Given the description of an element on the screen output the (x, y) to click on. 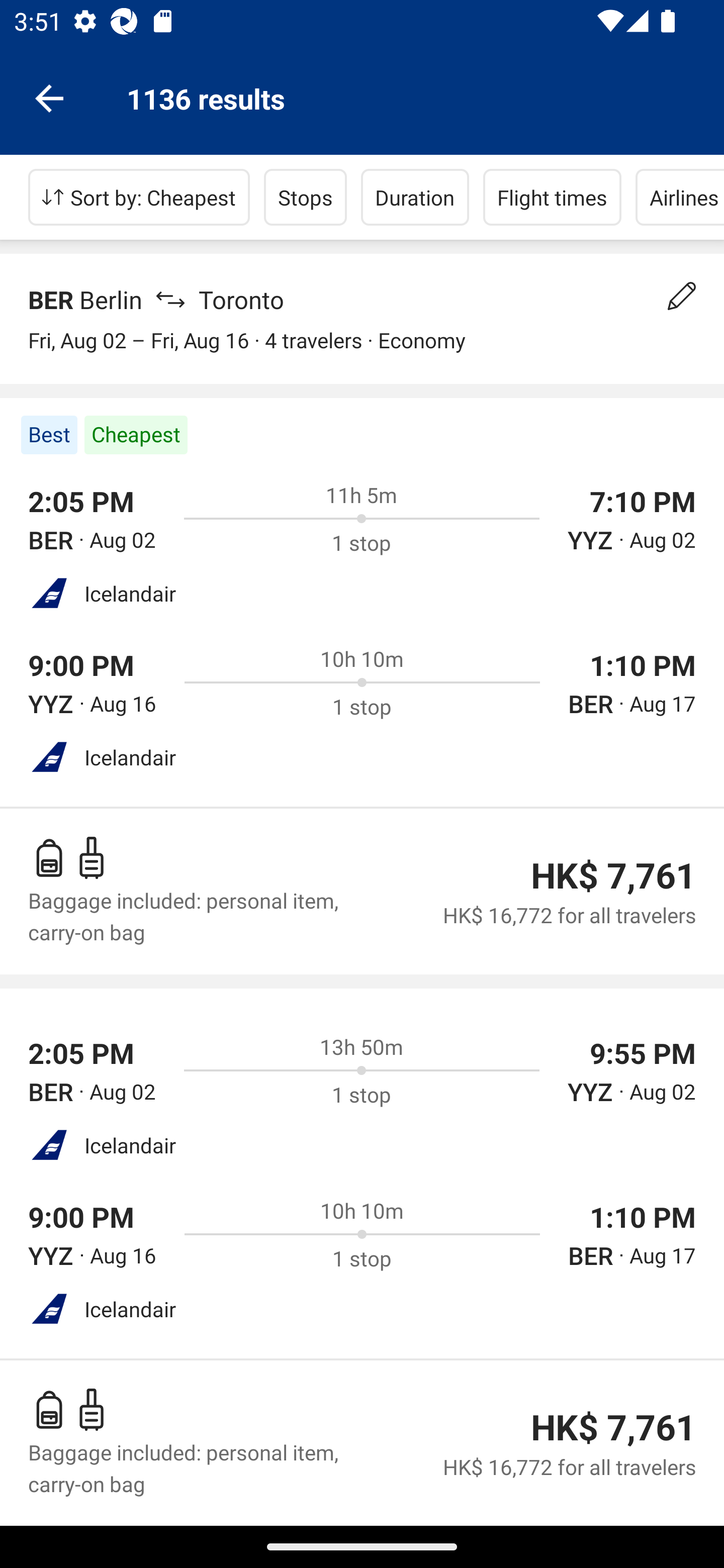
Navigate up (49, 97)
Sort by: Cheapest (138, 197)
Stops (305, 197)
Duration (415, 197)
Flight times (551, 197)
Airlines (679, 197)
Change your search details (681, 296)
HK$ 7,761 (612, 875)
HK$ 7,761 (612, 1427)
